Given the description of an element on the screen output the (x, y) to click on. 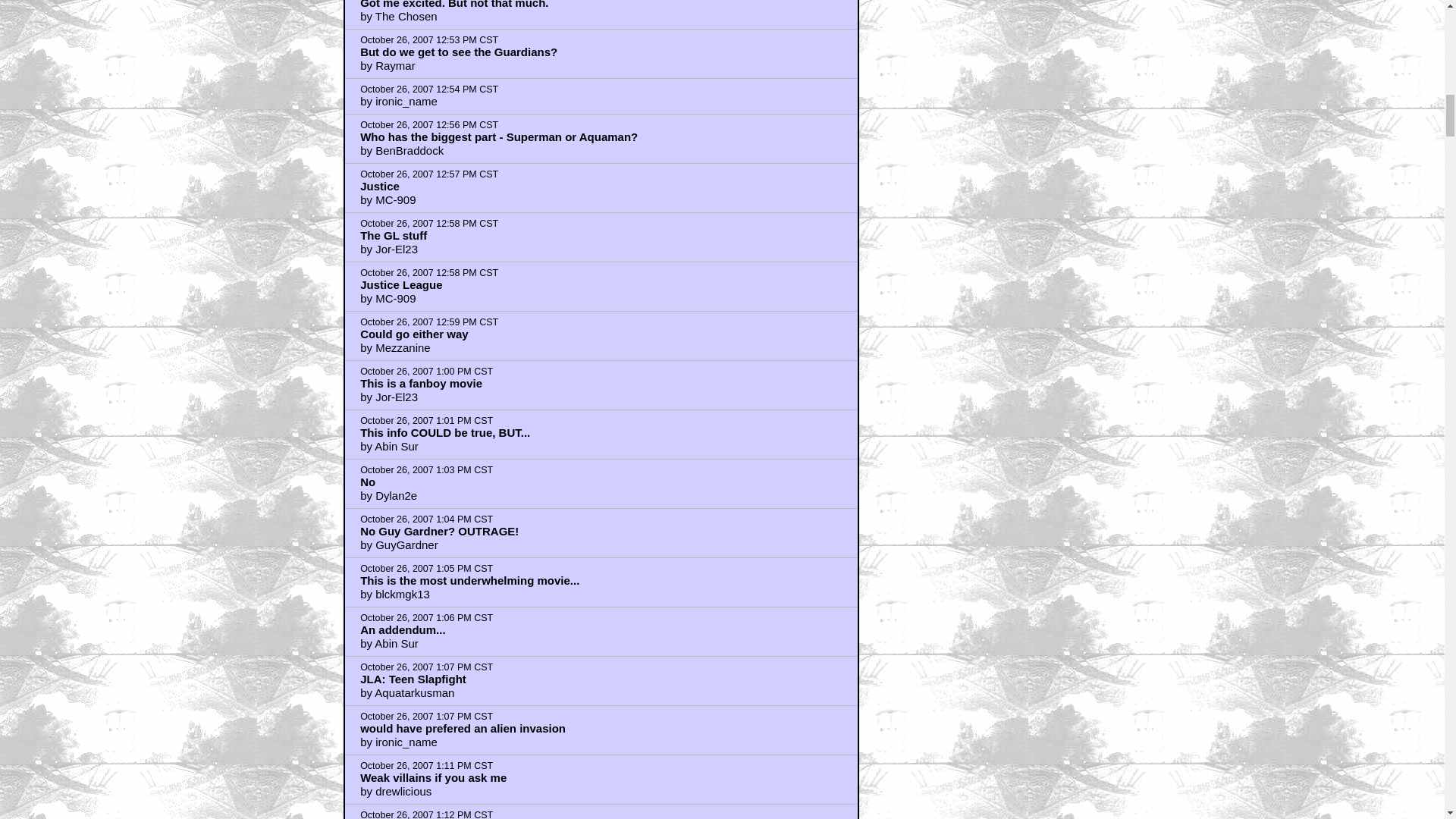
But do we get to see the Guardians? (458, 51)
No (367, 481)
An addendum... (402, 629)
This is a fanboy movie (420, 382)
Justice League (400, 284)
Who has the biggest part - Superman or Aquaman? (498, 136)
Got me excited. But not that much. (453, 4)
The GL stuff (392, 235)
Justice (378, 185)
Could go either way (413, 333)
No Guy Gardner? OUTRAGE! (438, 530)
This info COULD be true, BUT... (444, 431)
This is the most underwhelming movie... (469, 580)
